Given the description of an element on the screen output the (x, y) to click on. 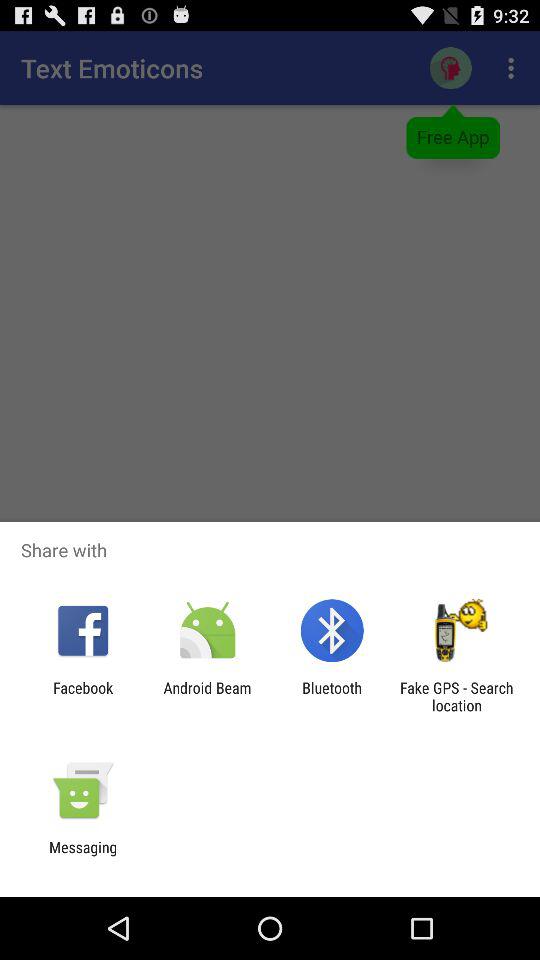
open the item to the left of bluetooth app (207, 696)
